Given the description of an element on the screen output the (x, y) to click on. 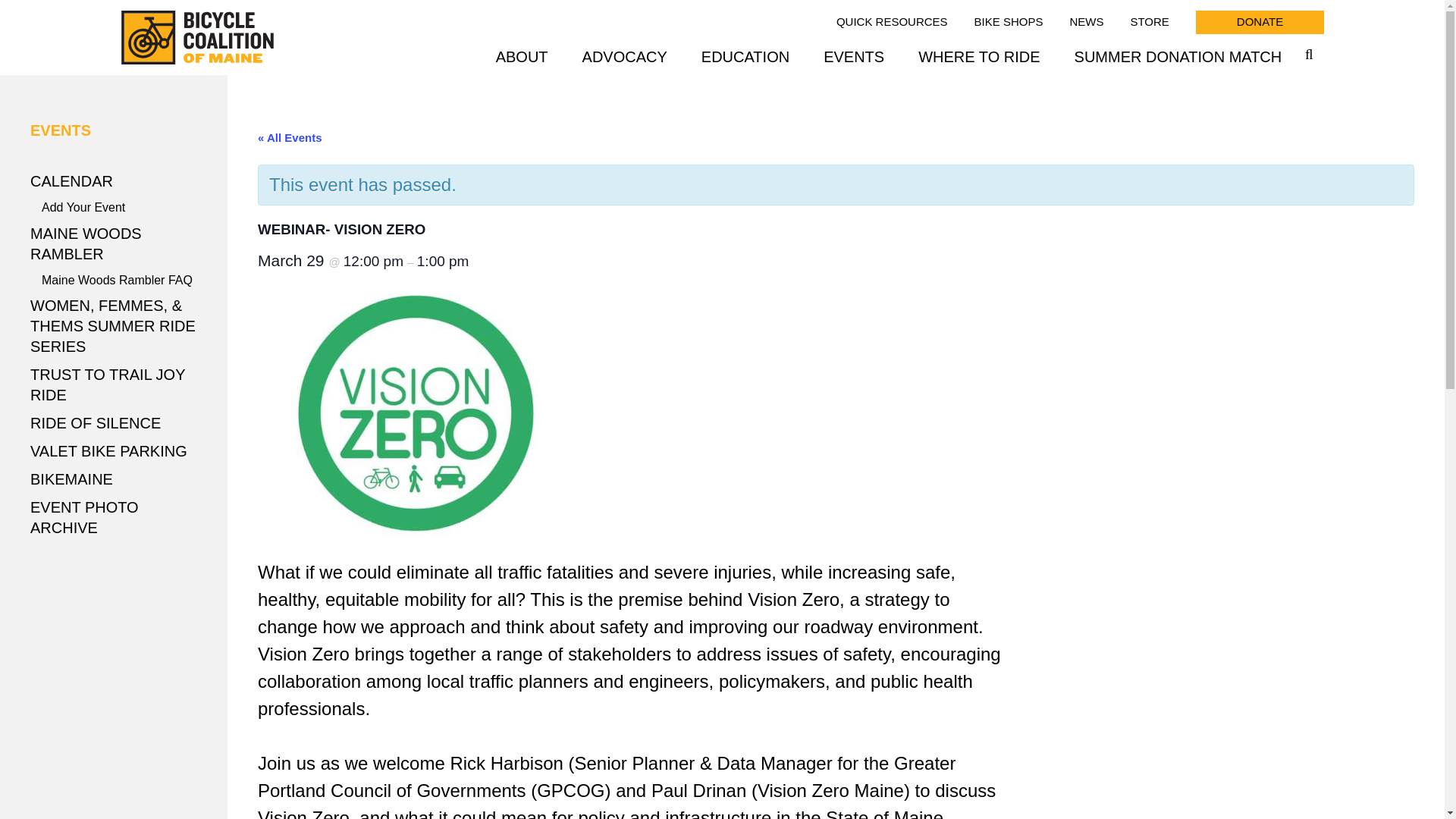
EVENTS (853, 56)
ADVOCACY (624, 56)
Bicycle Coalition of Maine (197, 37)
ABOUT (522, 56)
EDUCATION (745, 56)
